Given the description of an element on the screen output the (x, y) to click on. 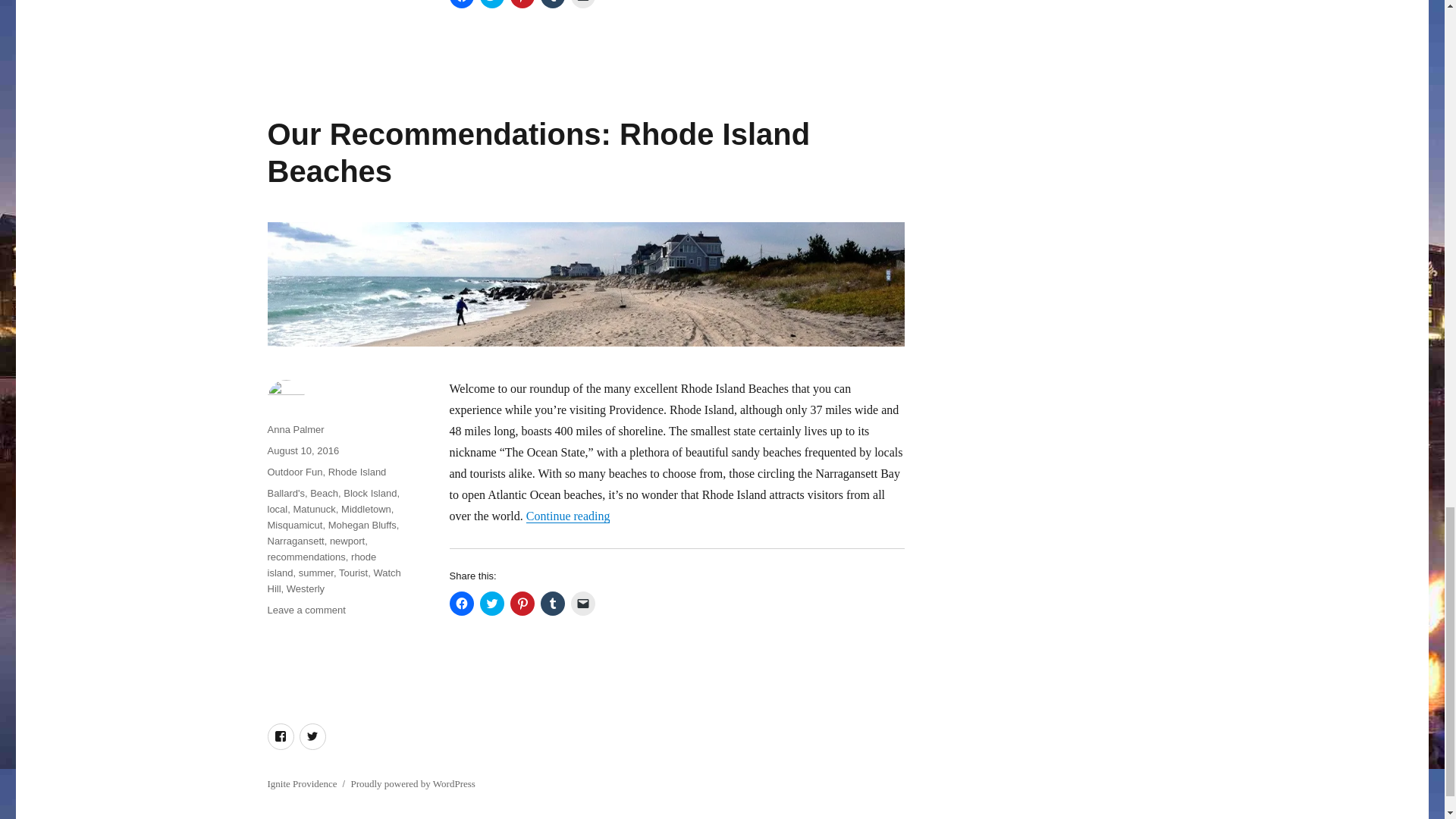
Click to share on Facebook (460, 603)
Click to share on Pinterest (521, 4)
Click to email a link to a friend (582, 603)
Click to share on Pinterest (521, 603)
Click to share on Twitter (491, 603)
Click to share on Twitter (491, 4)
Click to email a link to a friend (582, 4)
Click to share on Tumblr (552, 603)
Click to share on Tumblr (552, 4)
Click to share on Facebook (460, 4)
